Given the description of an element on the screen output the (x, y) to click on. 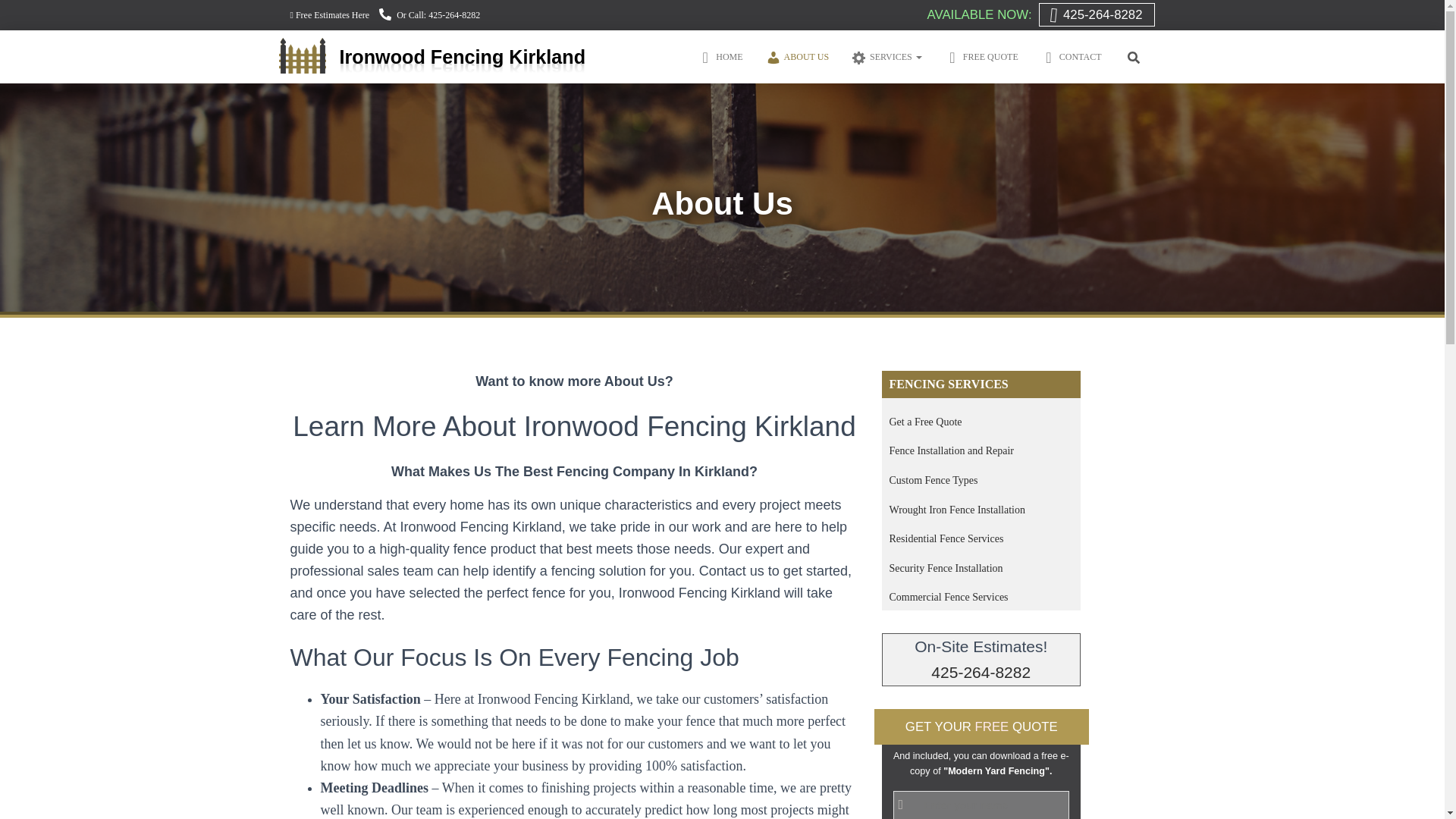
Fence Installation and Repair (950, 450)
FREE QUOTE (981, 56)
Or Call: 425-264-8282 (429, 15)
Residential Fence Services (945, 538)
ABOUT US (797, 56)
HOME (719, 56)
Or Call: 425-264-8282 (429, 15)
Free Quote (981, 56)
Commercial Fence Services (947, 596)
Ironwood Fencing Kirkland (437, 56)
